Given the description of an element on the screen output the (x, y) to click on. 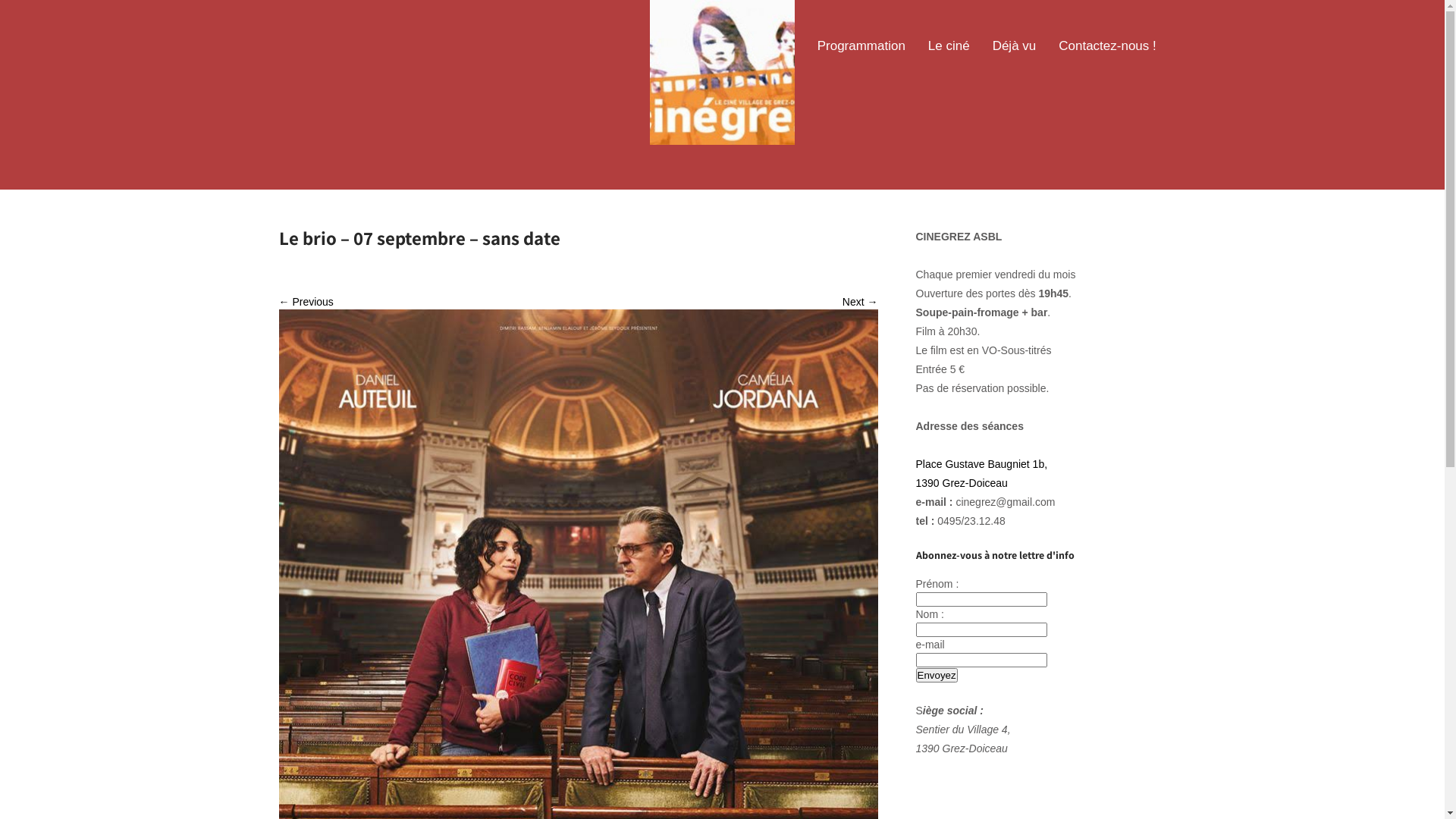
Programmation Element type: text (861, 45)
Contactez-nous ! Element type: text (1106, 45)
1390 Grez-Doiceau Element type: text (961, 482)
Envoyez Element type: text (936, 675)
Place Gustave Baugniet 1b, Element type: text (982, 464)
